Given the description of an element on the screen output the (x, y) to click on. 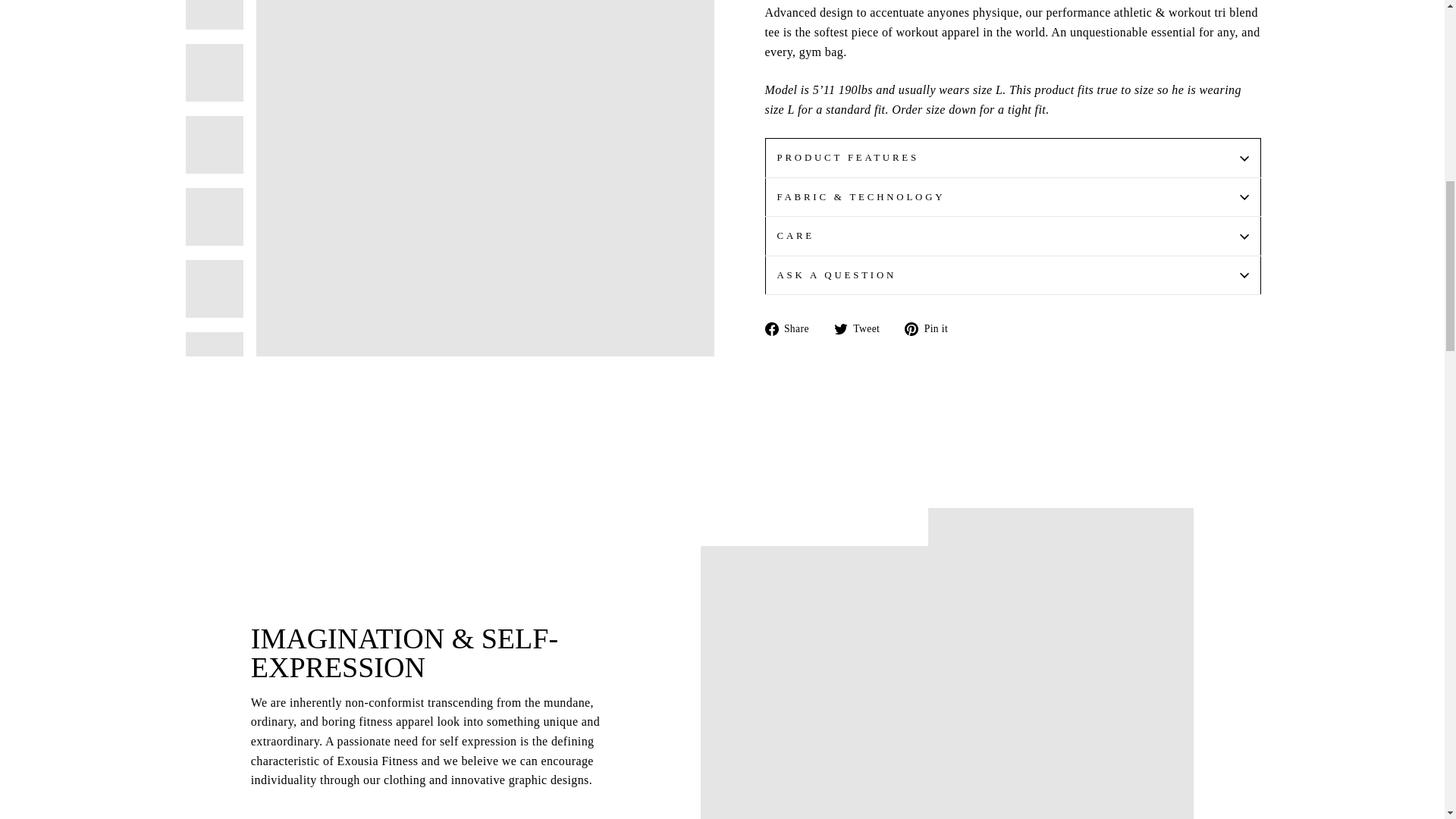
Share on Facebook (791, 327)
Pin on Pinterest (931, 327)
Tweet on Twitter (862, 327)
